Given the description of an element on the screen output the (x, y) to click on. 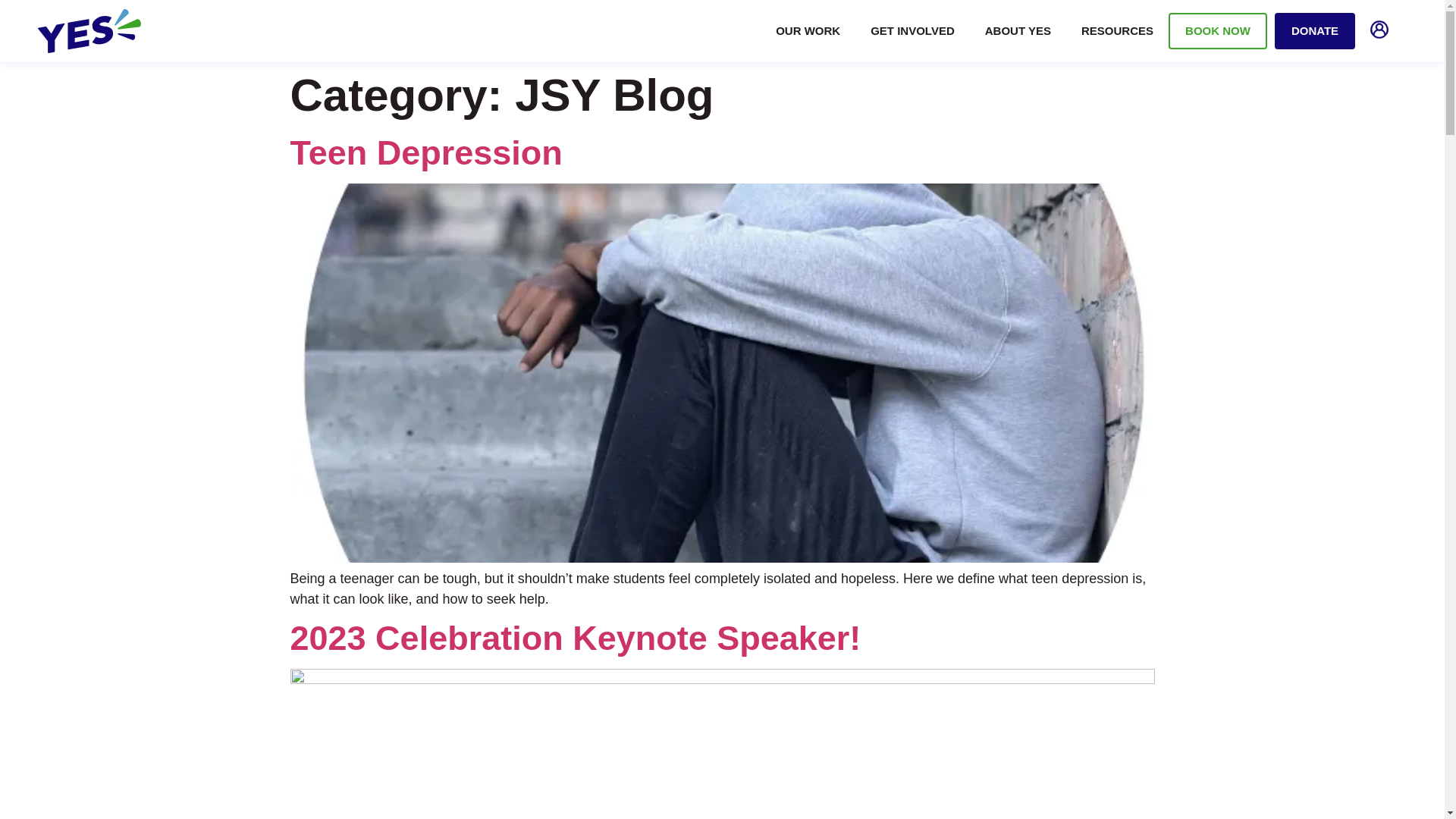
BOOK NOW (1217, 31)
OUR WORK (808, 31)
ABOUT YES (1017, 31)
DONATE (1315, 31)
GET INVOLVED (912, 31)
RESOURCES (1117, 31)
